Given the description of an element on the screen output the (x, y) to click on. 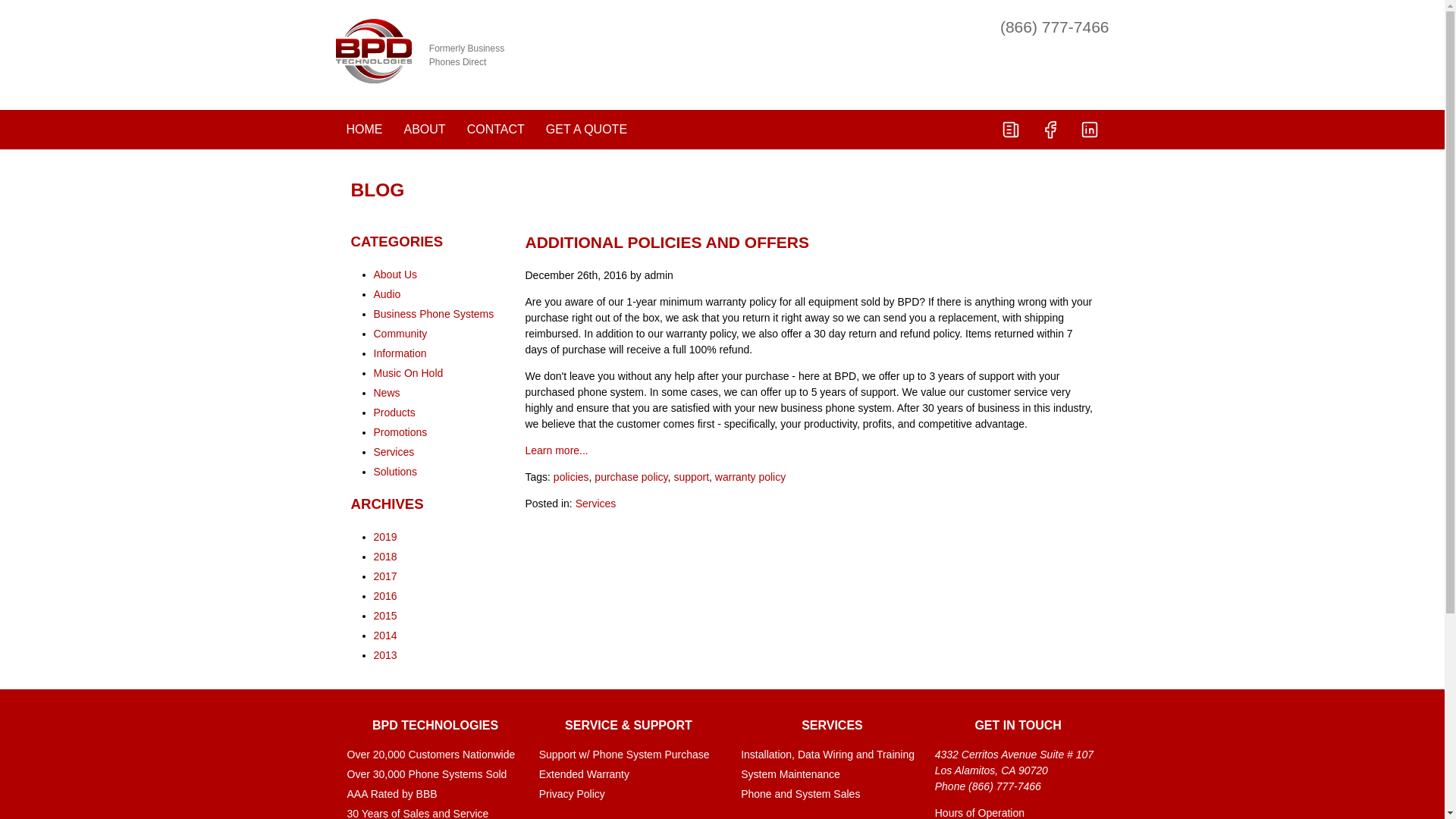
Information (399, 353)
Services (595, 503)
2015 (384, 615)
Over 20,000 Customers Nationwide (435, 754)
Business Phone Systems (432, 313)
2019 (384, 536)
Extended Warranty (627, 774)
CONTACT (496, 129)
2018 (384, 556)
Connect with Us on LinkedIn (1088, 129)
warranty policy (750, 476)
Like Us on Facebook (1048, 129)
Call Us Today! (1054, 27)
Products (393, 412)
GET A QUOTE (586, 129)
